Given the description of an element on the screen output the (x, y) to click on. 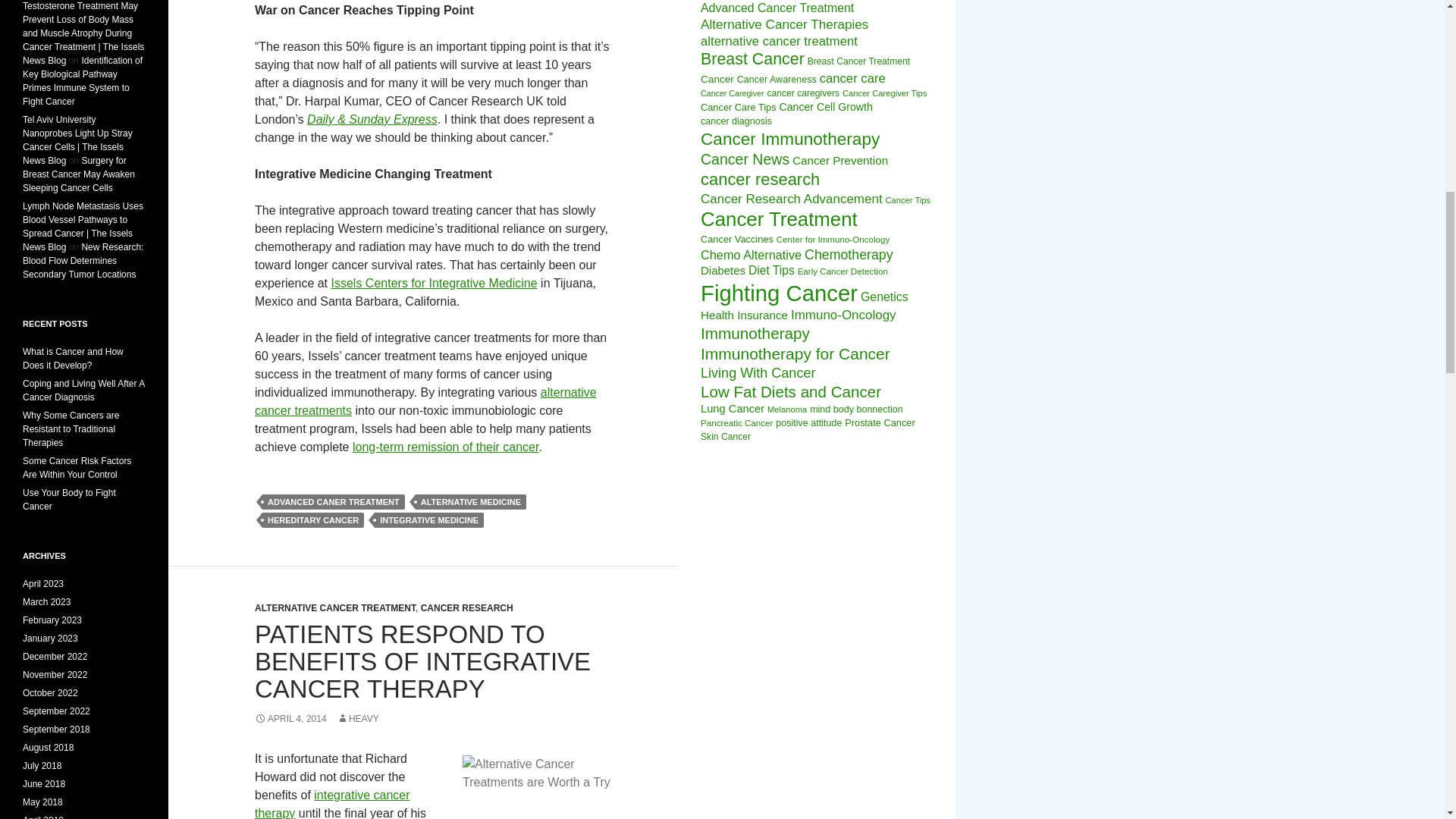
ALTERNATIVE MEDICINE (469, 501)
INTEGRATIVE MEDICINE (428, 519)
CANCER RESEARCH (466, 607)
ALTERNATIVE CANCER TREATMENT (334, 607)
ADVANCED CANER TREATMENT (333, 501)
Alternative Cancer Treatments are Worth a Try (538, 787)
HEAVY (357, 718)
Issels Centers for Integrative Medicine (434, 282)
long-term remission of their cancer (445, 446)
PATIENTS RESPOND TO BENEFITS OF INTEGRATIVE CANCER THERAPY (422, 660)
